Given the description of an element on the screen output the (x, y) to click on. 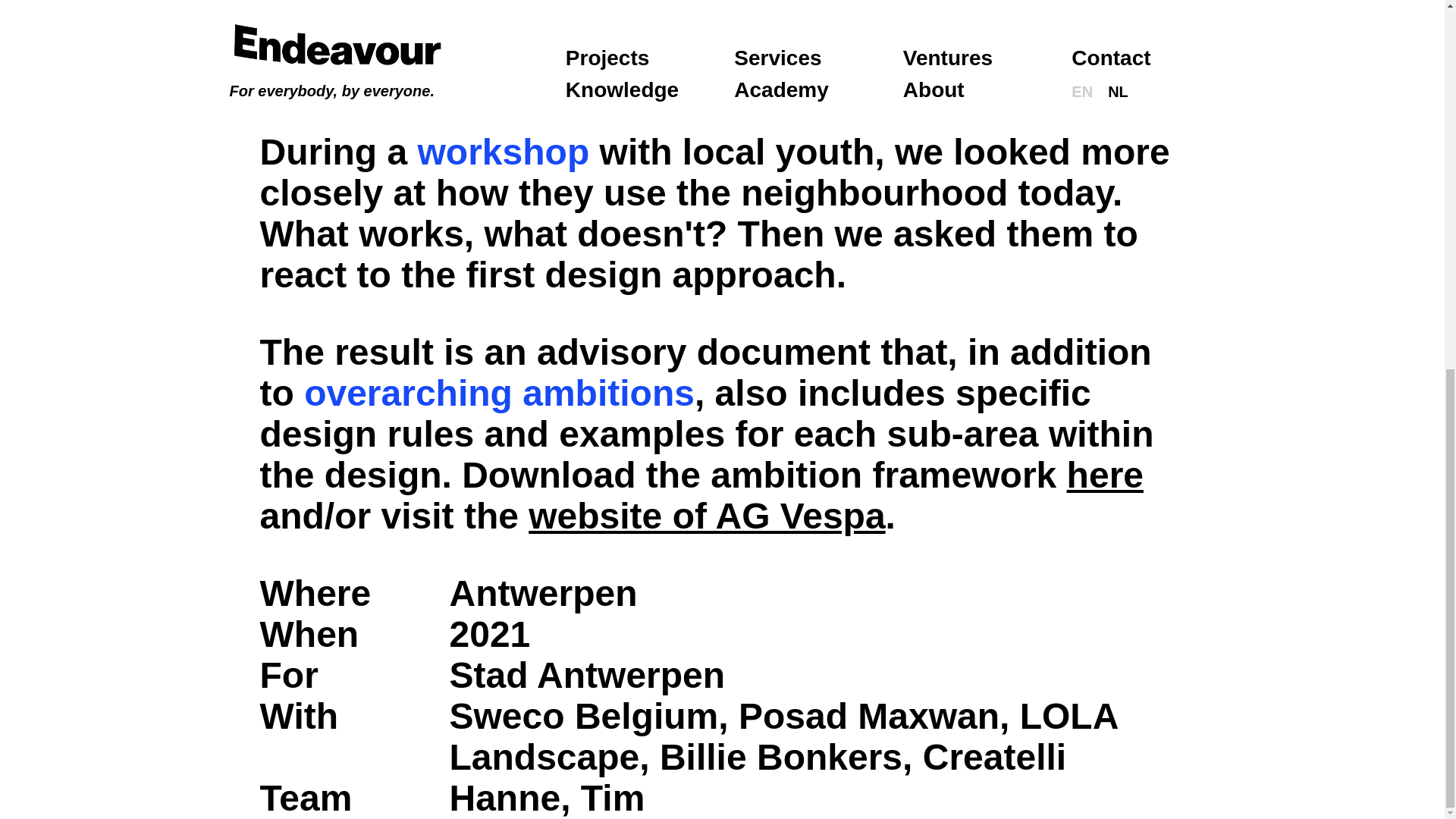
here (1104, 475)
website of AG Vespa (706, 516)
